Given the description of an element on the screen output the (x, y) to click on. 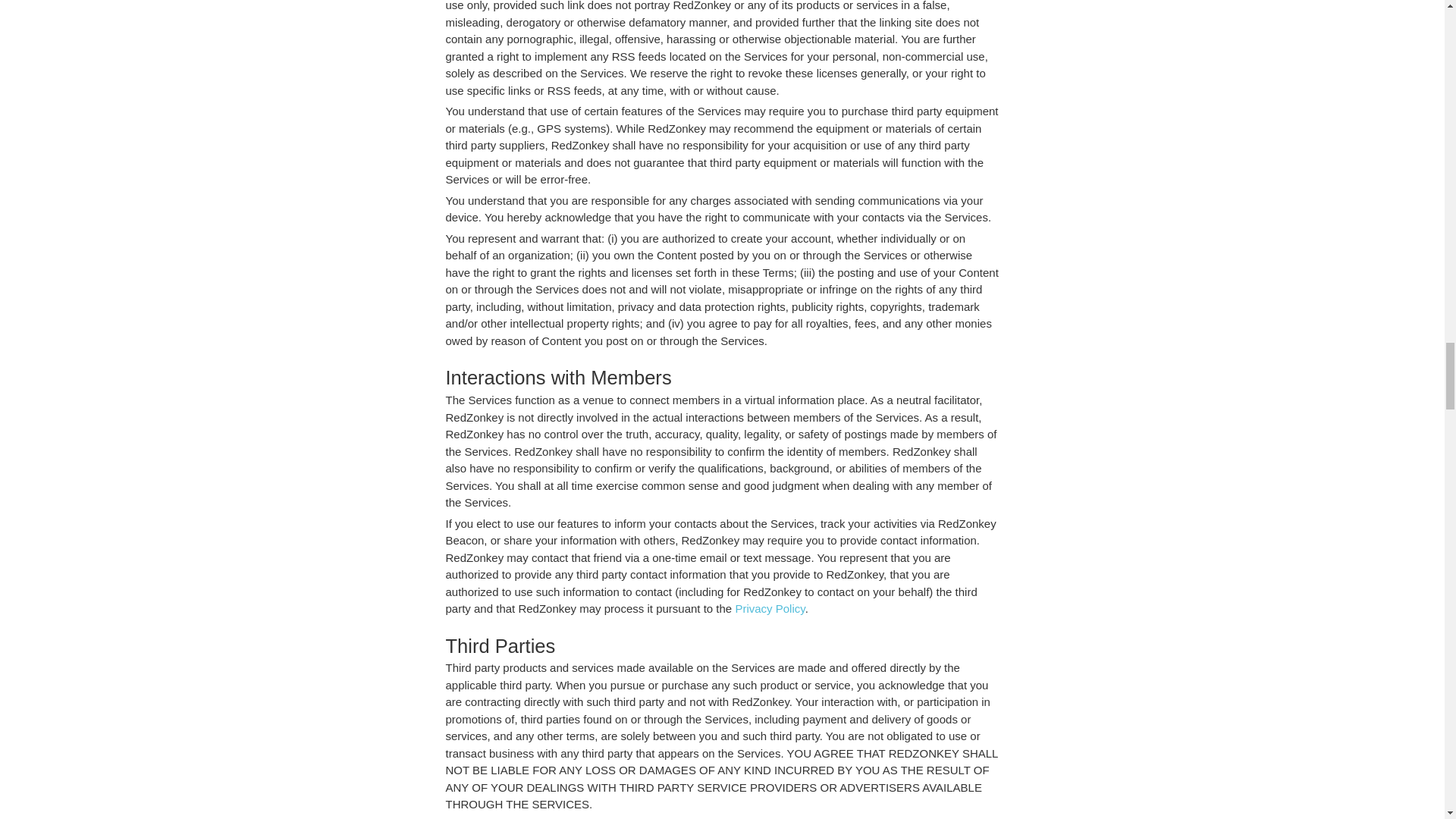
Privacy Policy (770, 608)
